Given the description of an element on the screen output the (x, y) to click on. 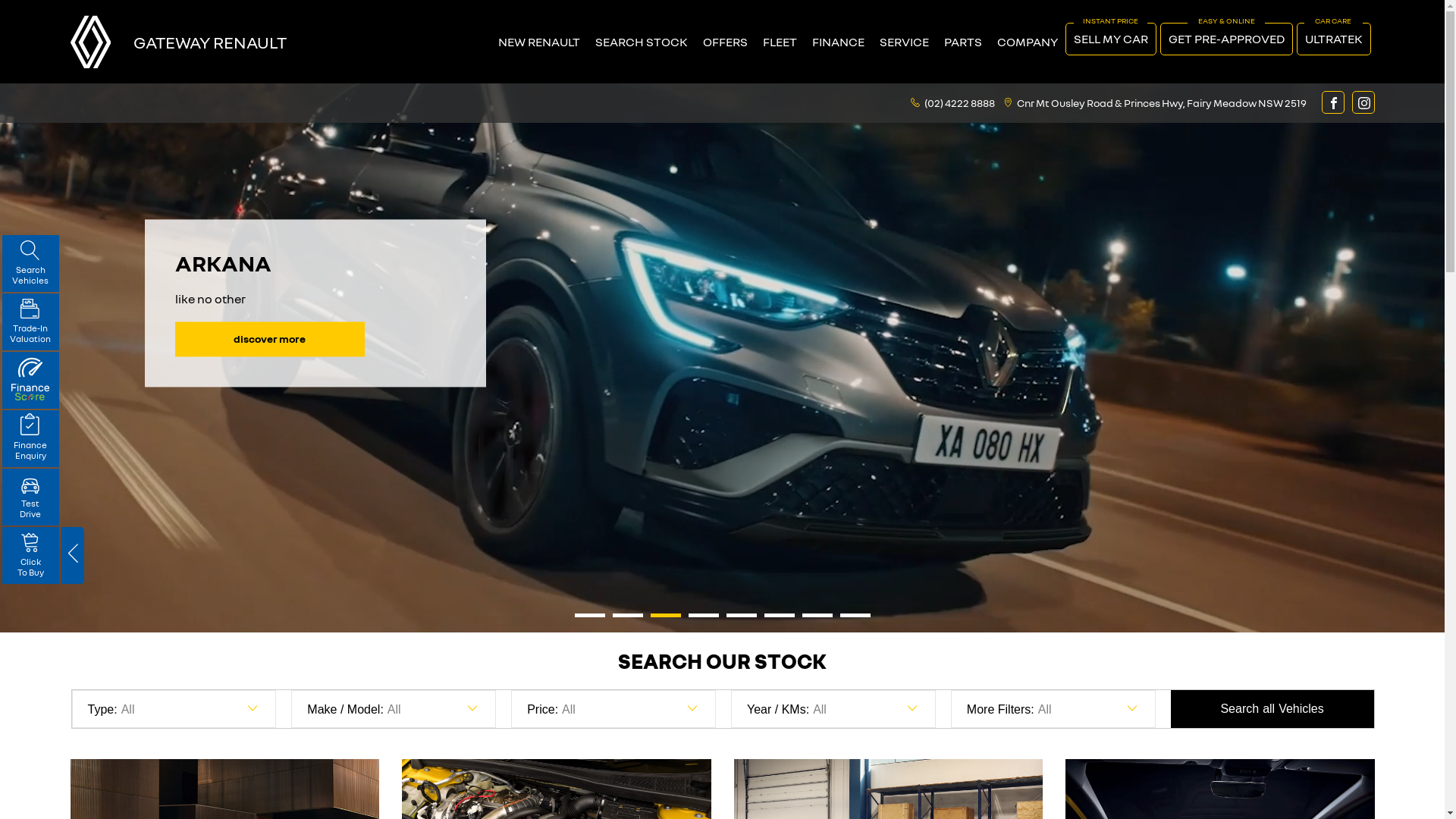
ULTRATEK Element type: text (1333, 38)
SEARCH STOCK Element type: text (640, 41)
GATEWAY RENAULT Element type: text (209, 41)
FINANCE Element type: text (837, 41)
COMPANY Element type: text (1026, 41)
Finance
Enquiry Element type: text (30, 438)
discover more Element type: text (269, 338)
NEW RENAULT Element type: text (537, 41)
GET PRE-APPROVED Element type: text (1226, 38)
FLEET Element type: text (779, 41)
PARTS Element type: text (961, 41)
Click
To Buy Element type: text (30, 555)
OFFERS Element type: text (724, 41)
Trade-In
Valuation Element type: text (30, 321)
Test
Drive Element type: text (30, 496)
SELL MY CAR Element type: text (1109, 38)
(02) 4222 8888 Element type: text (958, 101)
Search
Vehicles Element type: text (30, 263)
Cnr Mt Ousley Road & Princes Hwy, Fairy Meadow NSW 2519 Element type: text (1160, 101)
Search
all
Vehicles Element type: text (1272, 709)
SERVICE Element type: text (904, 41)
